Given the description of an element on the screen output the (x, y) to click on. 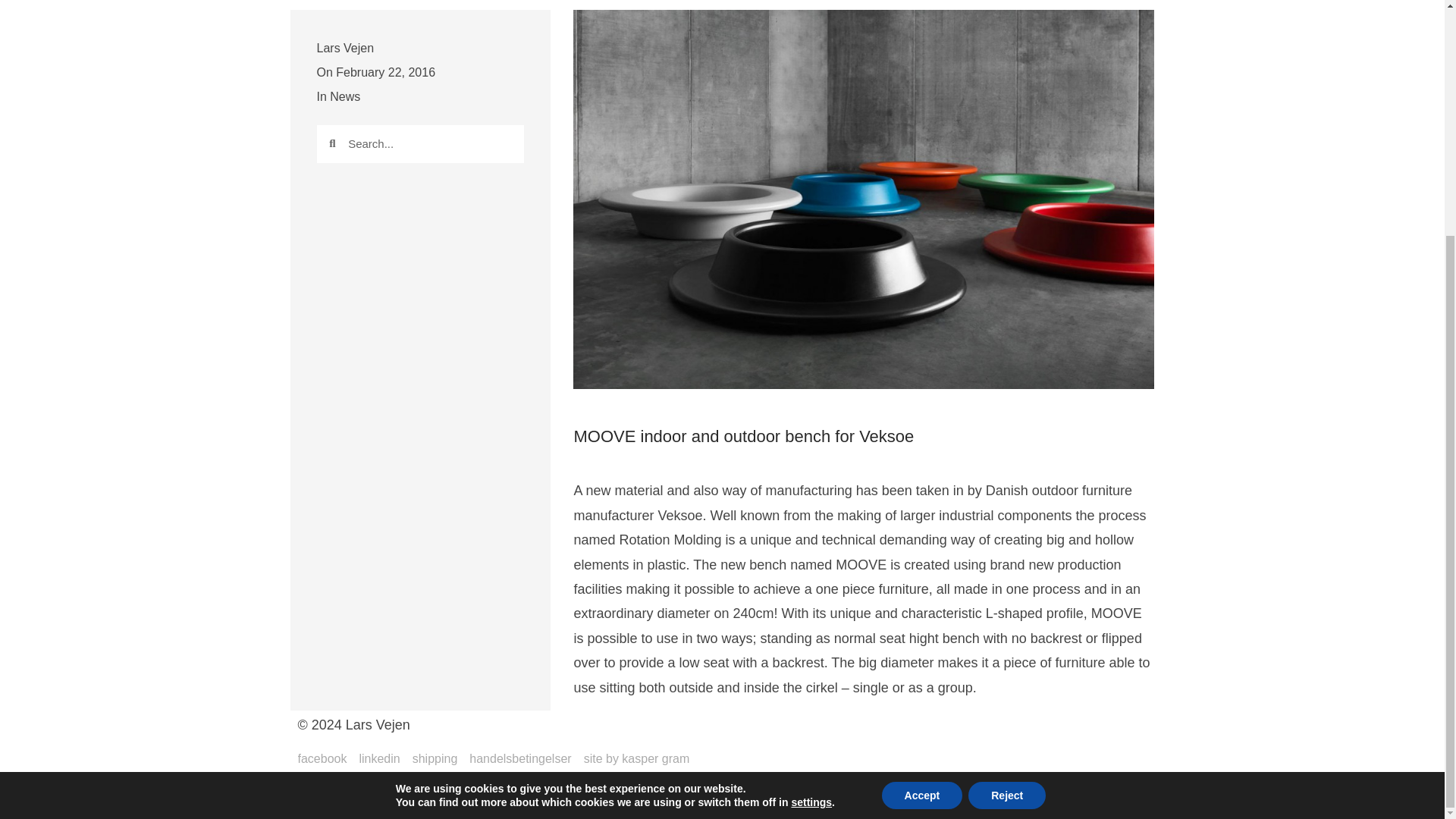
settings (810, 481)
facebook (321, 758)
linkedin (378, 758)
News (344, 96)
On February 22, 2016 (376, 72)
Lars Vejen (345, 48)
shipping (435, 758)
handelsbetingelser (519, 758)
site by kasper gram (636, 758)
Reject (1006, 474)
Accept (922, 474)
